Given the description of an element on the screen output the (x, y) to click on. 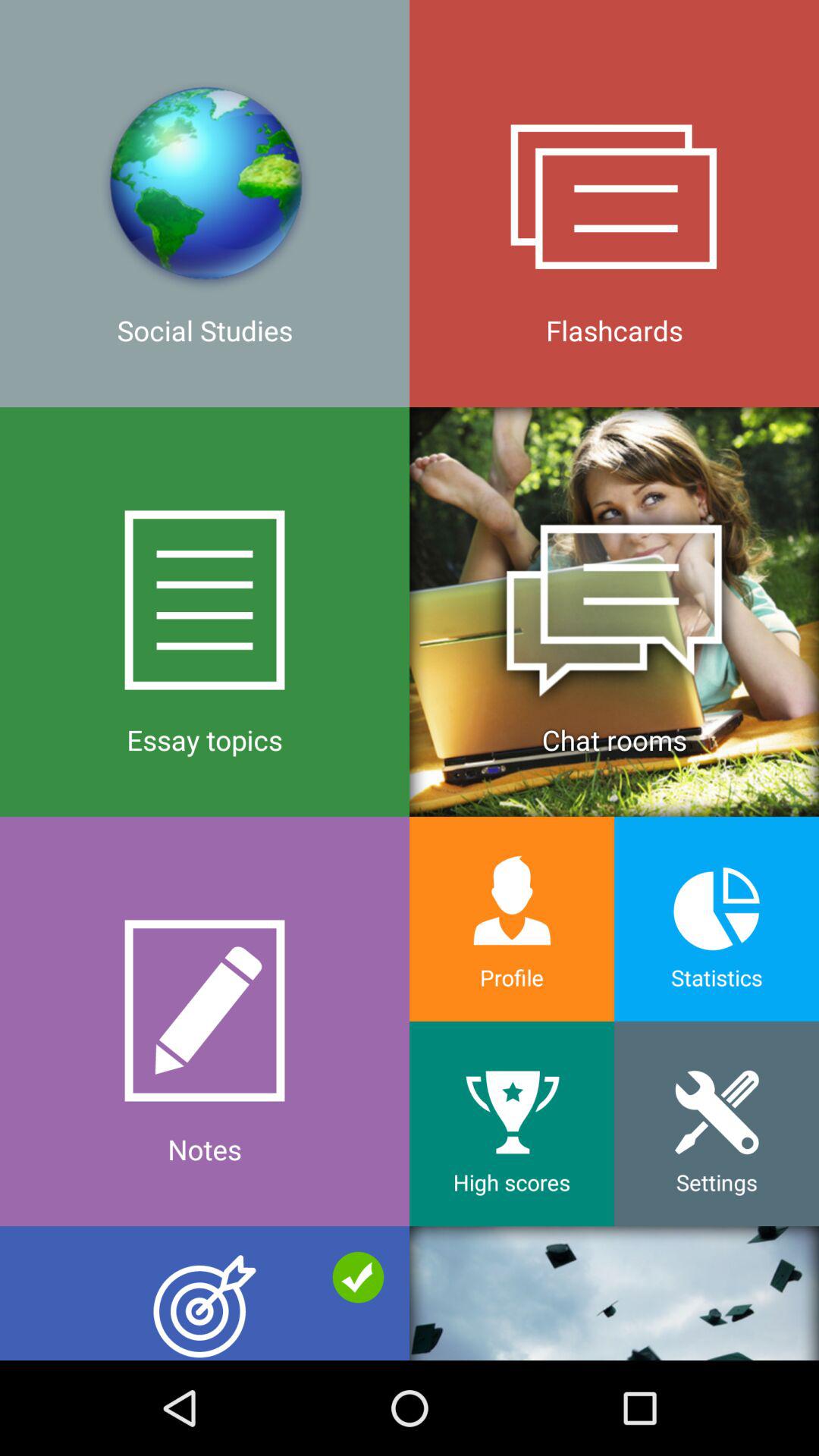
select item above notes app (204, 611)
